Given the description of an element on the screen output the (x, y) to click on. 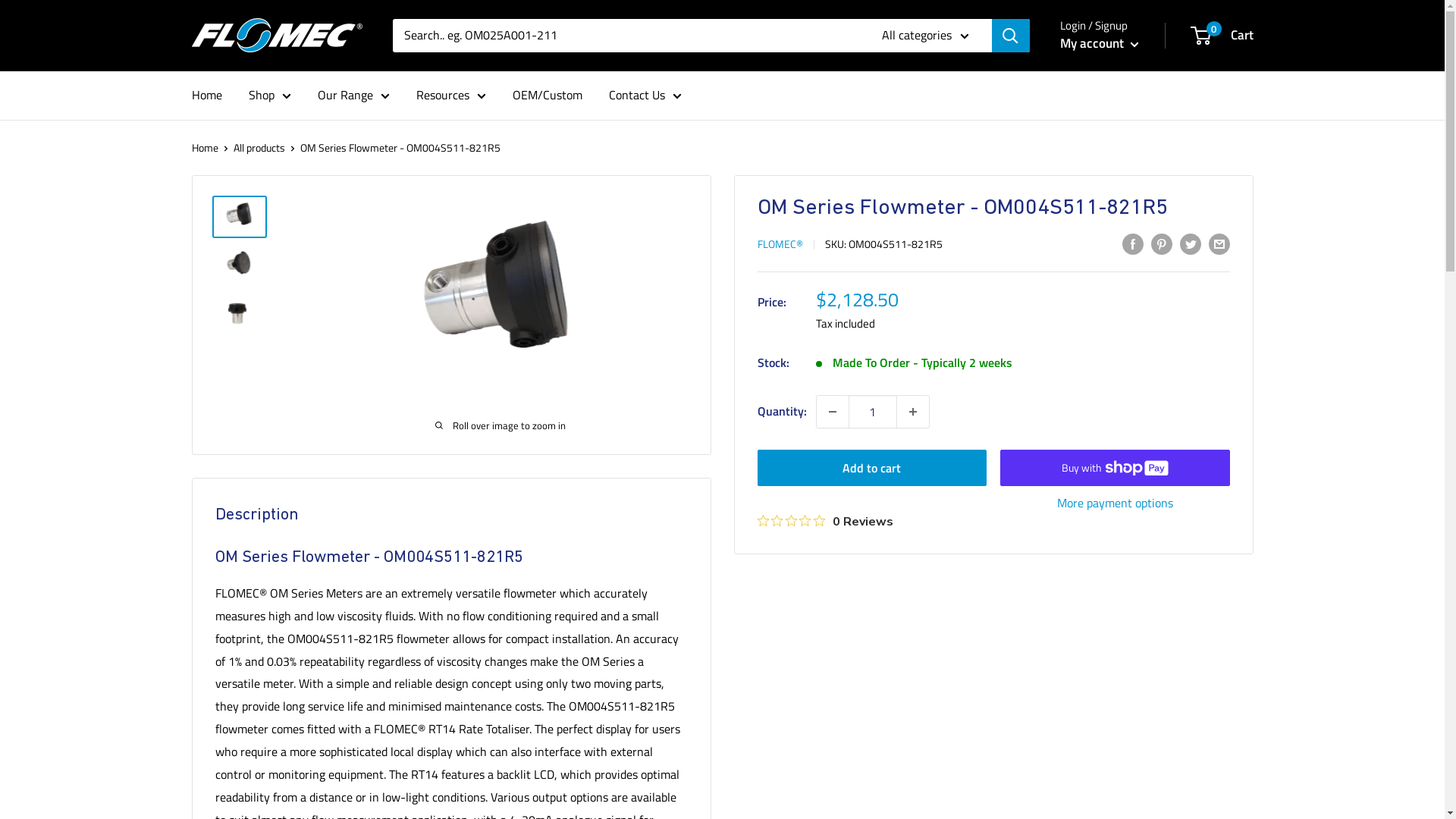
All products Element type: text (259, 147)
Home Element type: text (206, 95)
Home Element type: text (204, 147)
Our Range Element type: text (352, 95)
Decrease quantity by 1 Element type: hover (831, 411)
0
Cart Element type: text (1222, 35)
Increase quantity by 1 Element type: hover (912, 411)
FLOMEC Flow Meters Element type: text (276, 35)
Add to cart Element type: text (871, 467)
OEM/Custom Element type: text (547, 95)
More payment options Element type: text (1115, 503)
Contact Us Element type: text (644, 95)
Shop Element type: text (269, 95)
My account Element type: text (1099, 43)
Resources Element type: text (450, 95)
